Given the description of an element on the screen output the (x, y) to click on. 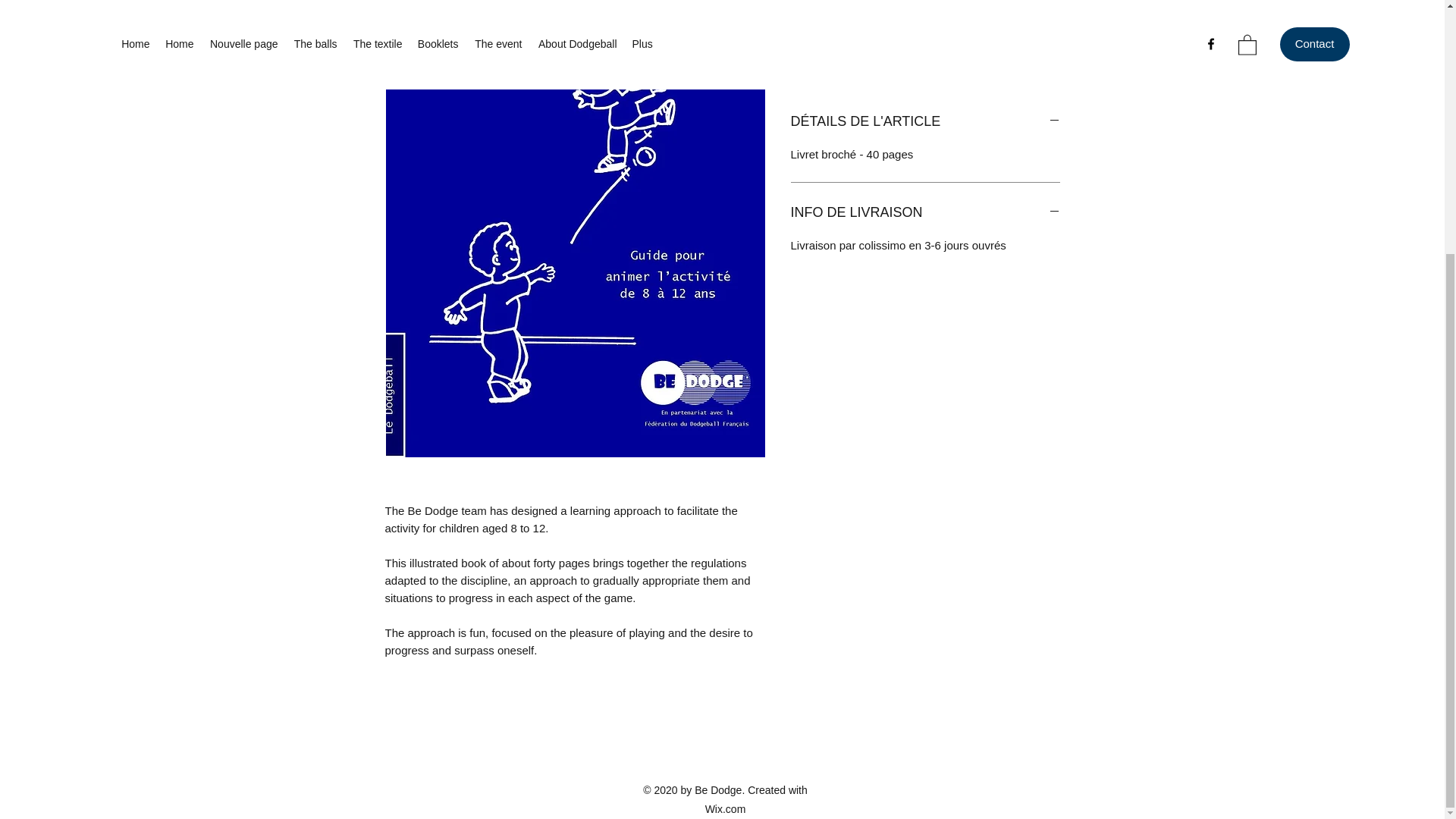
Add to Cart (924, 58)
1 (827, 10)
INFO DE LIVRAISON (924, 212)
